Given the description of an element on the screen output the (x, y) to click on. 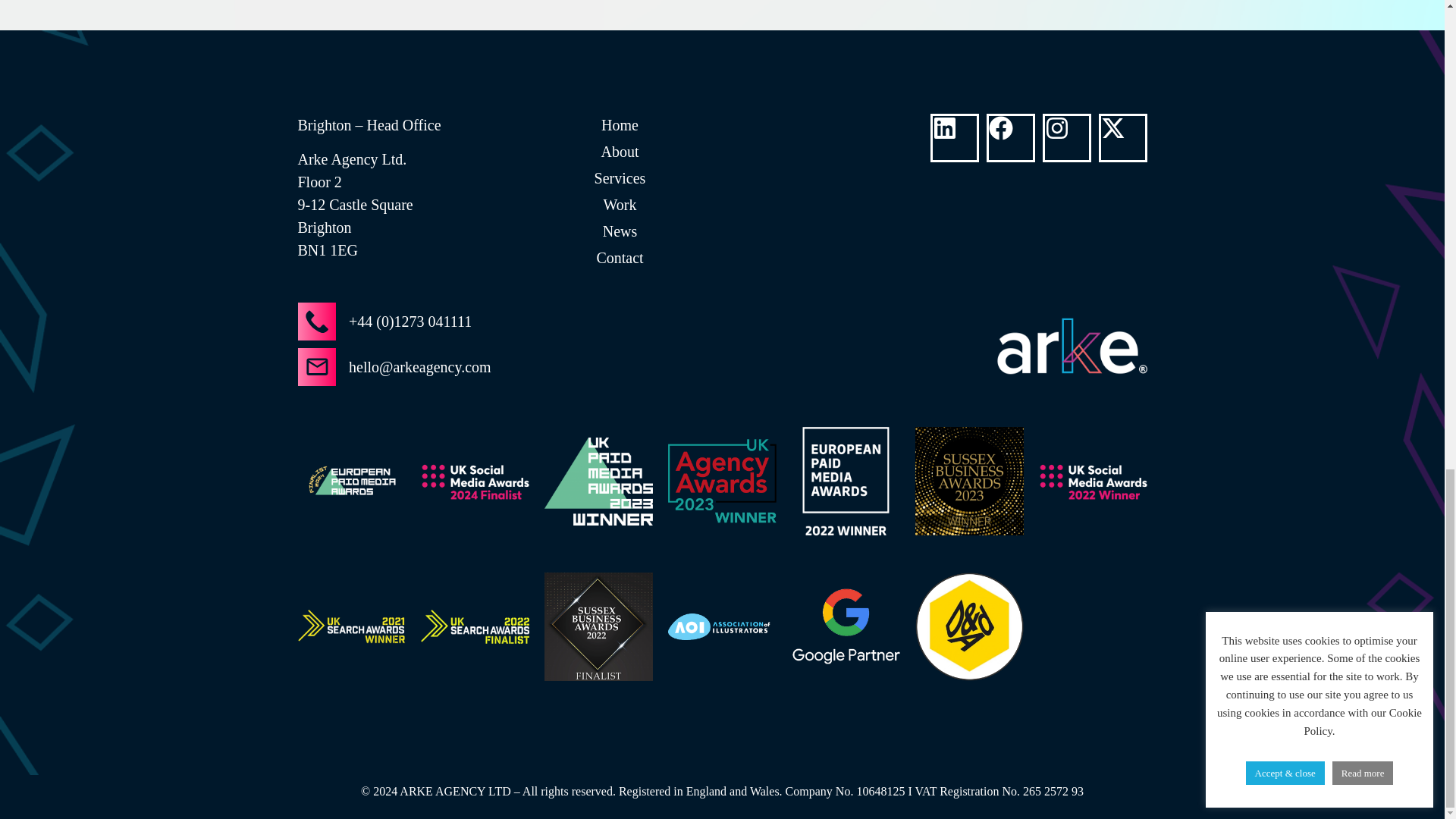
Services (619, 178)
News (619, 231)
Home (619, 124)
About (619, 151)
Contact (619, 257)
Work (619, 204)
